Given the description of an element on the screen output the (x, y) to click on. 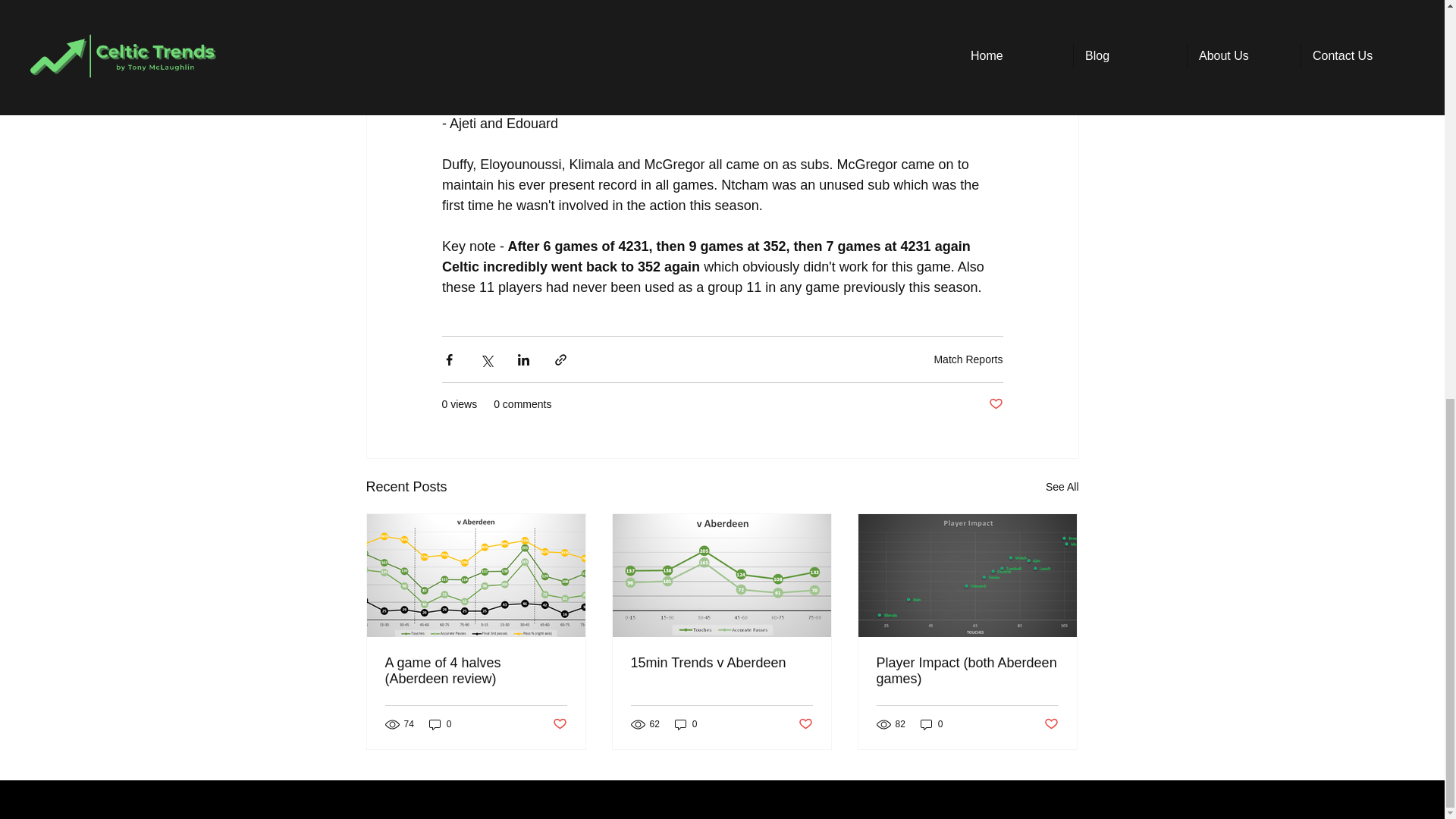
0 (440, 724)
See All (1061, 486)
Post not marked as liked (995, 404)
15min Trends v Aberdeen (721, 662)
Match Reports (968, 358)
0 (685, 724)
Post not marked as liked (804, 723)
Post not marked as liked (1050, 723)
Post not marked as liked (558, 723)
0 (931, 724)
